Given the description of an element on the screen output the (x, y) to click on. 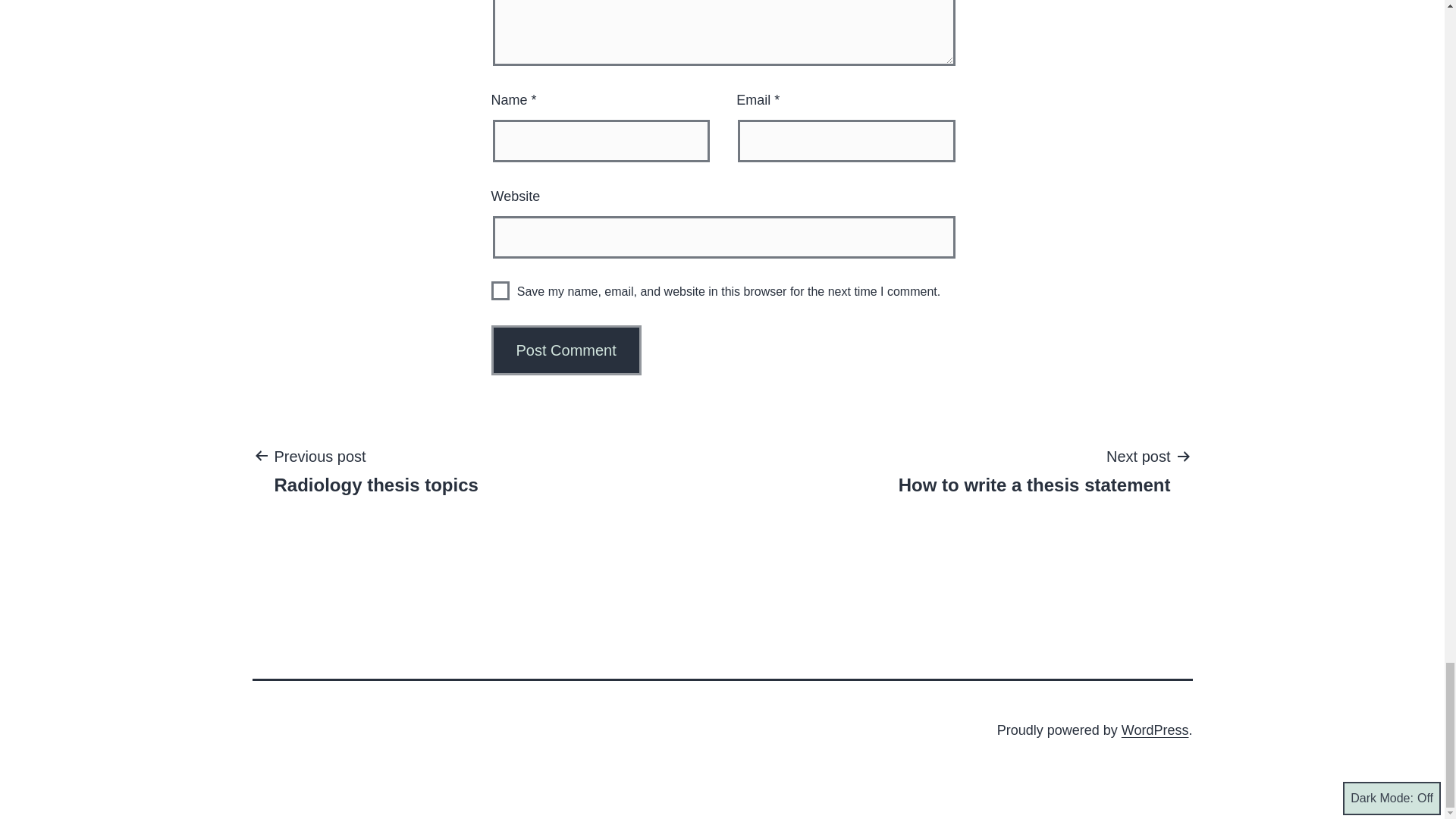
WordPress (1155, 729)
Post Comment (375, 469)
Post Comment (567, 350)
yes (567, 350)
